Given the description of an element on the screen output the (x, y) to click on. 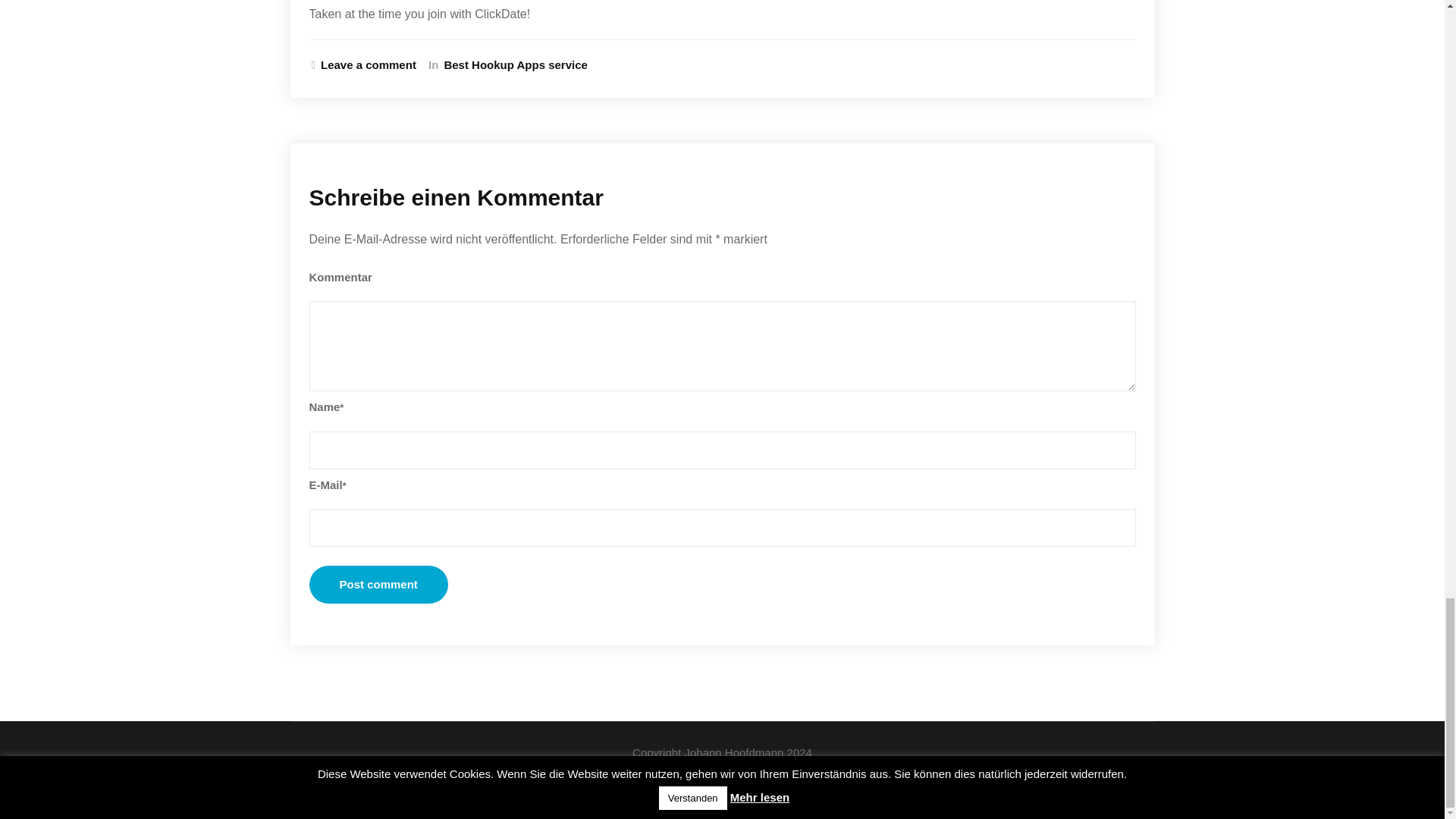
Leave a comment (363, 65)
Design by Igor Ayach (722, 786)
Post comment (378, 584)
Post comment (378, 584)
Best Hookup Apps service (513, 65)
